Given the description of an element on the screen output the (x, y) to click on. 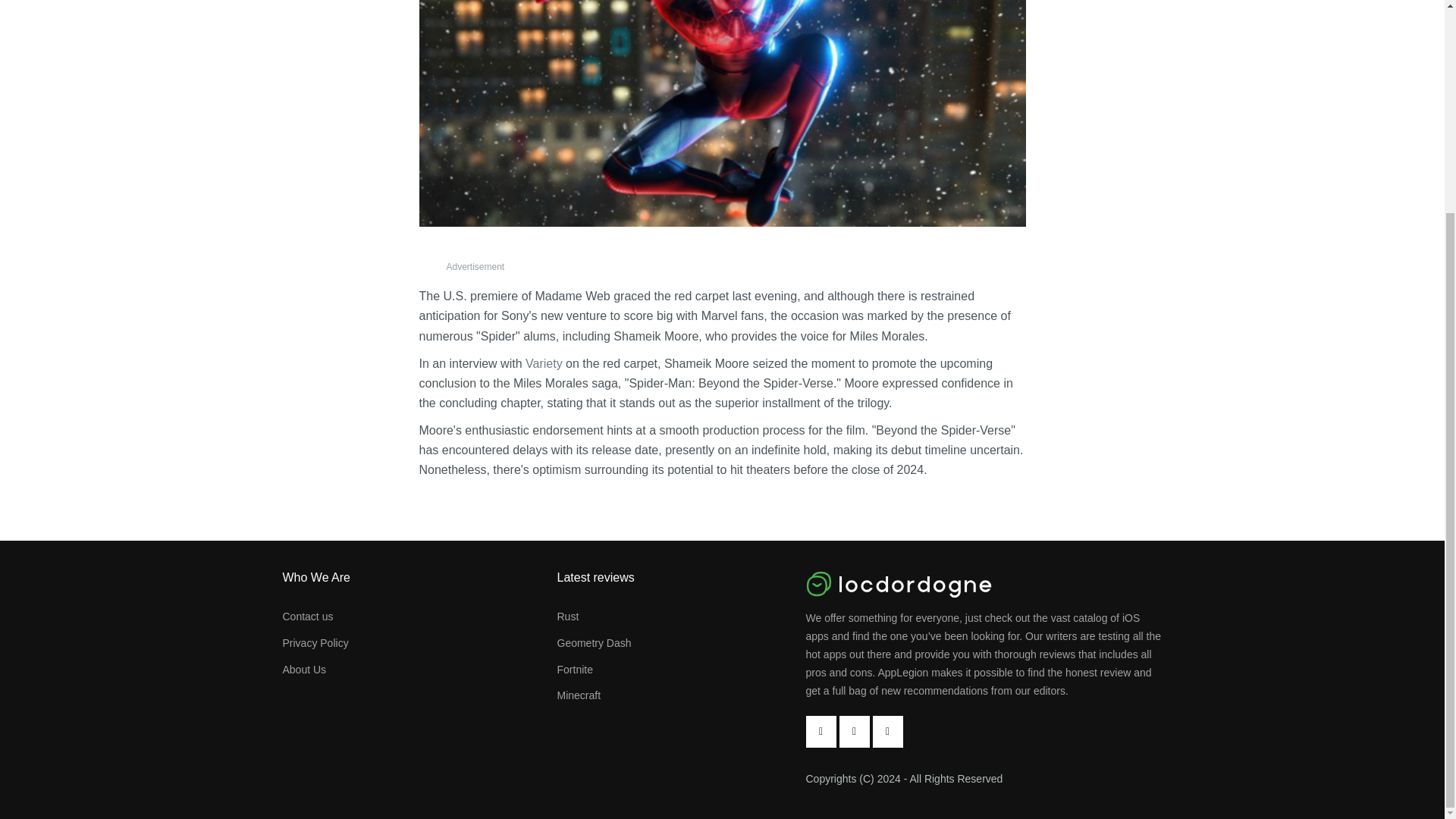
Rust (567, 616)
Privacy Policy (314, 643)
Fortnite (574, 669)
Variety (543, 363)
Geometry Dash (593, 643)
Contact us (307, 616)
About Us (304, 669)
Minecraft (577, 695)
locdordogne-logo (983, 584)
locdordogne-logo (898, 584)
